Given the description of an element on the screen output the (x, y) to click on. 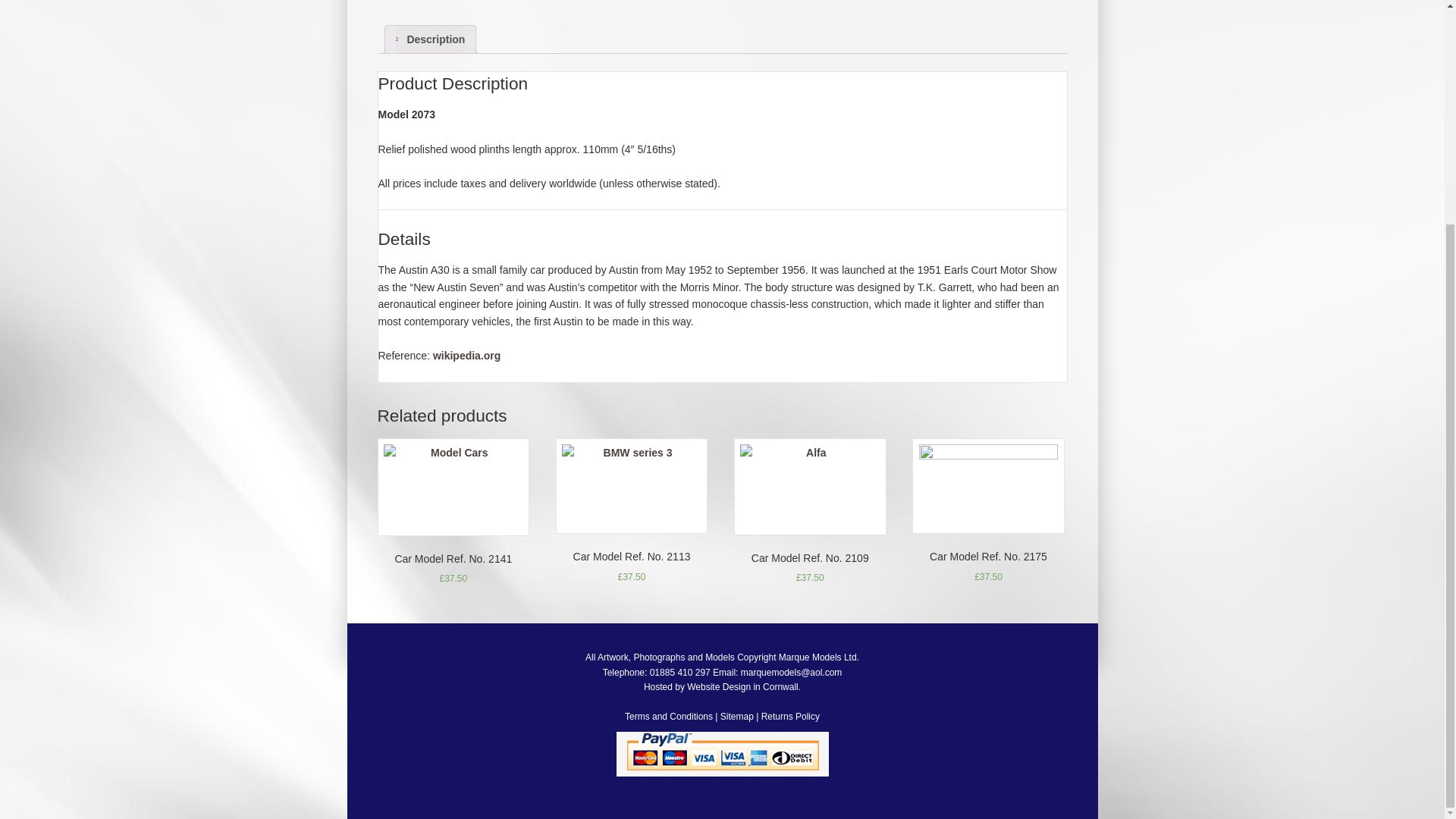
Terms and Conditions (668, 716)
wikipedia.org (466, 355)
Returns Policy (790, 716)
Website Design in Cornwall (742, 686)
Description (430, 39)
Sitemap (737, 716)
